Given the description of an element on the screen output the (x, y) to click on. 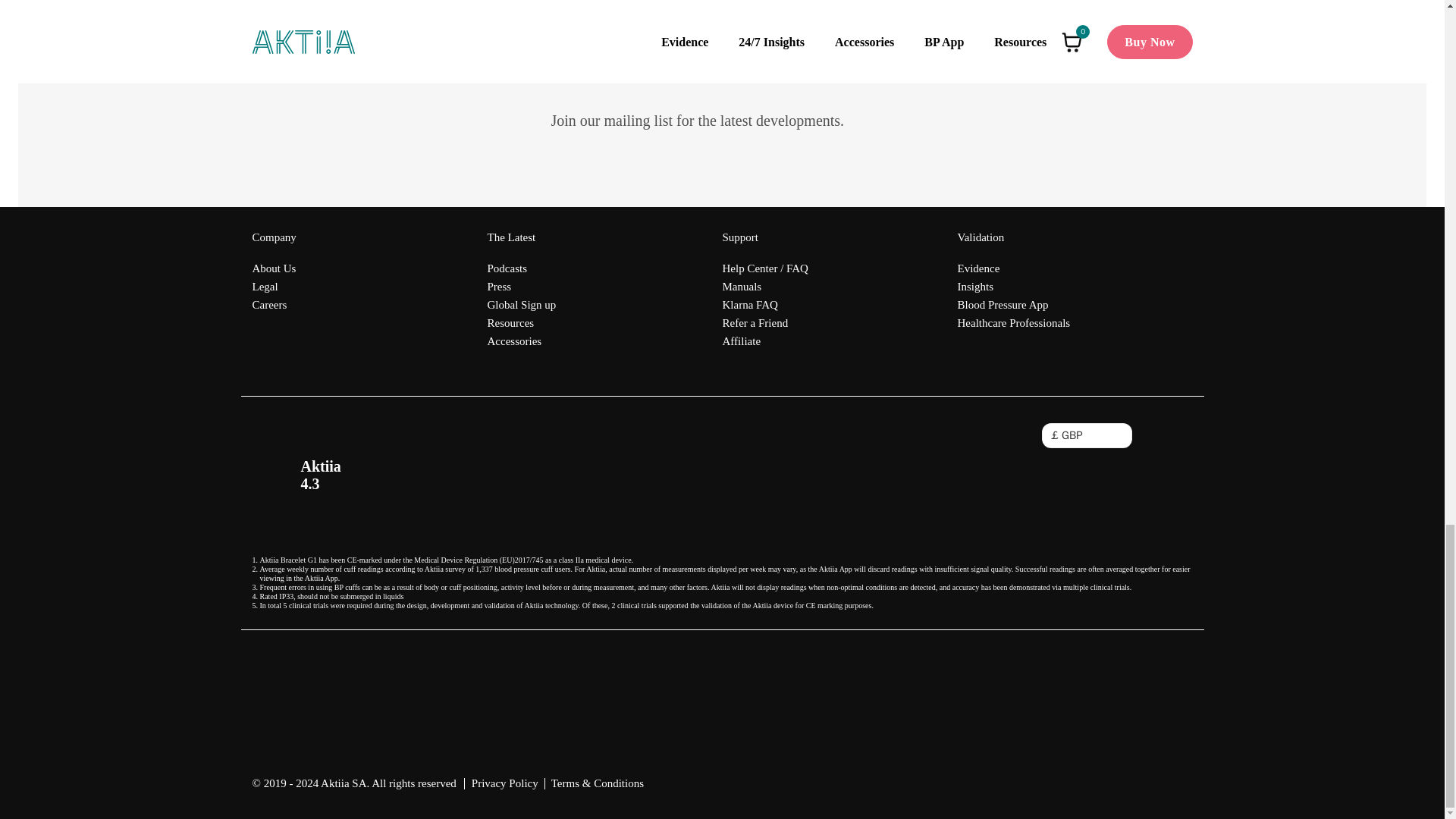
Klarna FAQ (765, 304)
Press (521, 286)
Manuals (765, 286)
Evidence (1013, 268)
Refer a Friend (765, 322)
Podcasts (521, 268)
Resources (521, 322)
About Us (273, 268)
Legal (273, 286)
Accessories (521, 341)
Global Sign up (521, 304)
Careers (273, 304)
Affiliate (765, 341)
